Given the description of an element on the screen output the (x, y) to click on. 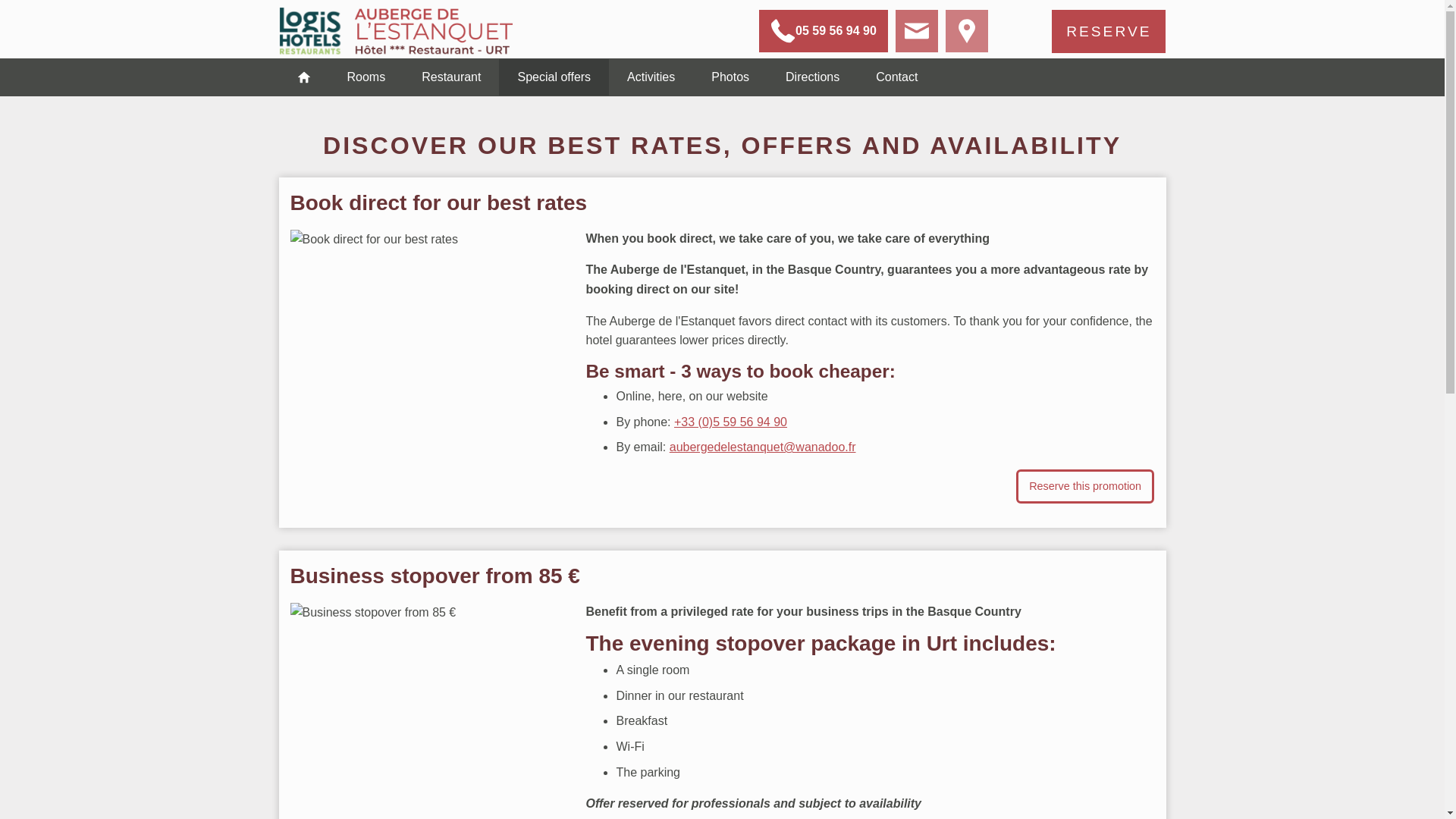
Special offers (553, 76)
Photos (730, 76)
Contact (896, 76)
Directions (812, 76)
Contact (896, 76)
Rooms (366, 76)
Photos (730, 76)
05 59 56 94 90 (823, 30)
Restaurant (451, 76)
Restaurant (451, 76)
Reserve this promotion (1085, 486)
Special offers (553, 76)
05 59 56 94 90 (823, 30)
Activities (650, 76)
Directions (812, 76)
